Given the description of an element on the screen output the (x, y) to click on. 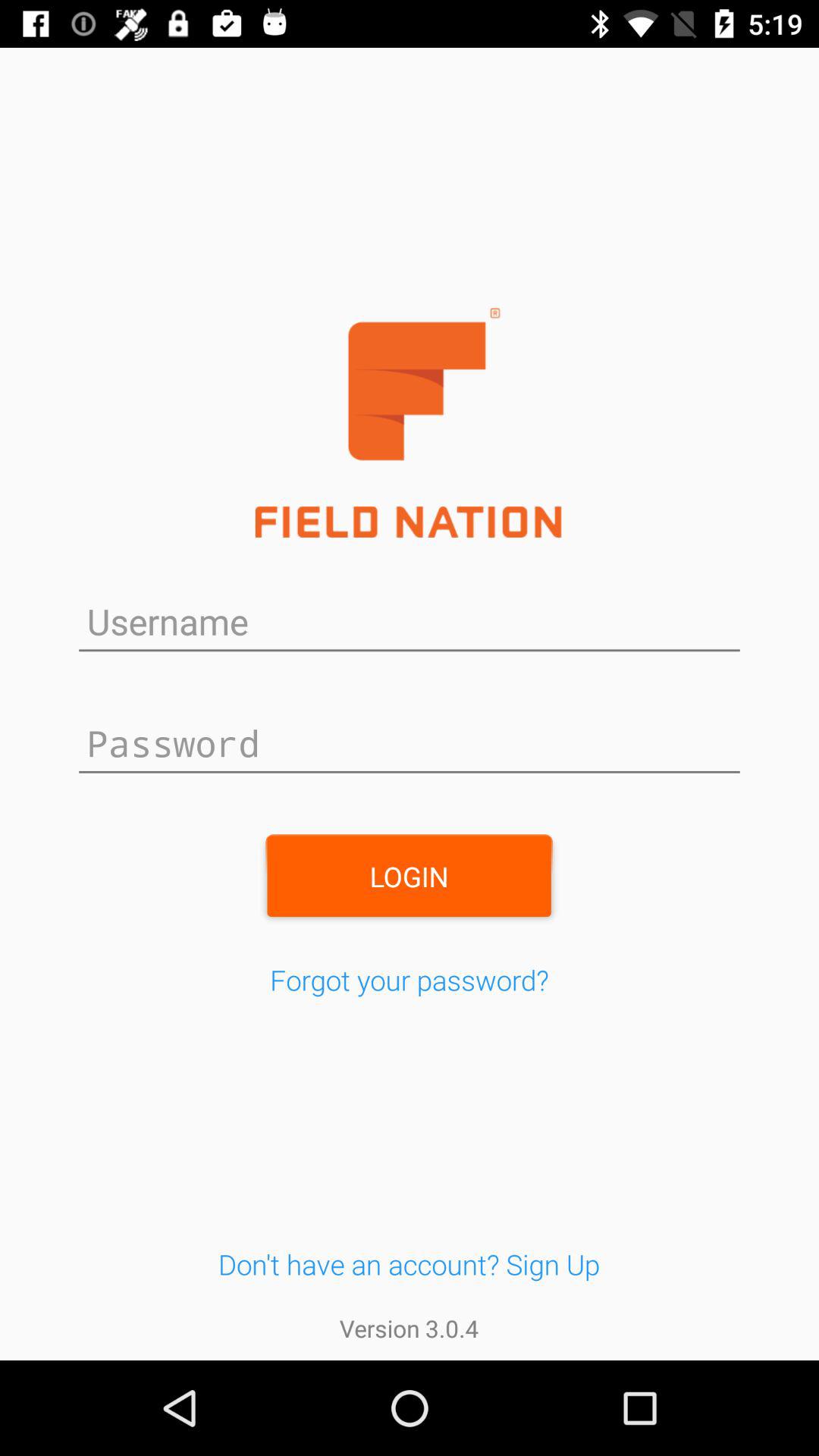
turn off forgot your password? item (409, 979)
